Given the description of an element on the screen output the (x, y) to click on. 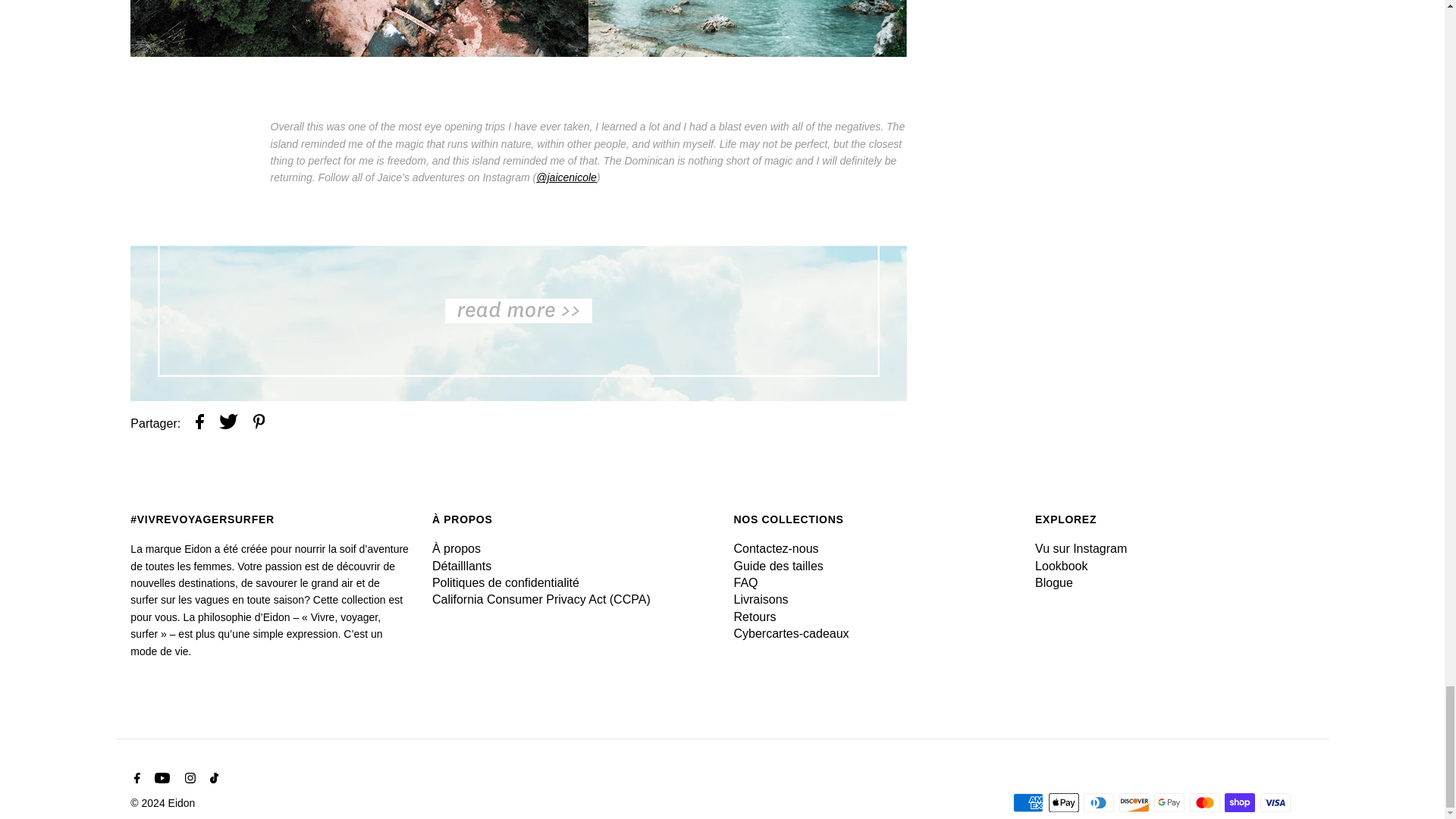
Partager sur Twitter (228, 424)
American Express (1028, 802)
Partager sur Pinterest (258, 424)
Partager sur Facebook (199, 424)
Eidon Blog (519, 397)
